Given the description of an element on the screen output the (x, y) to click on. 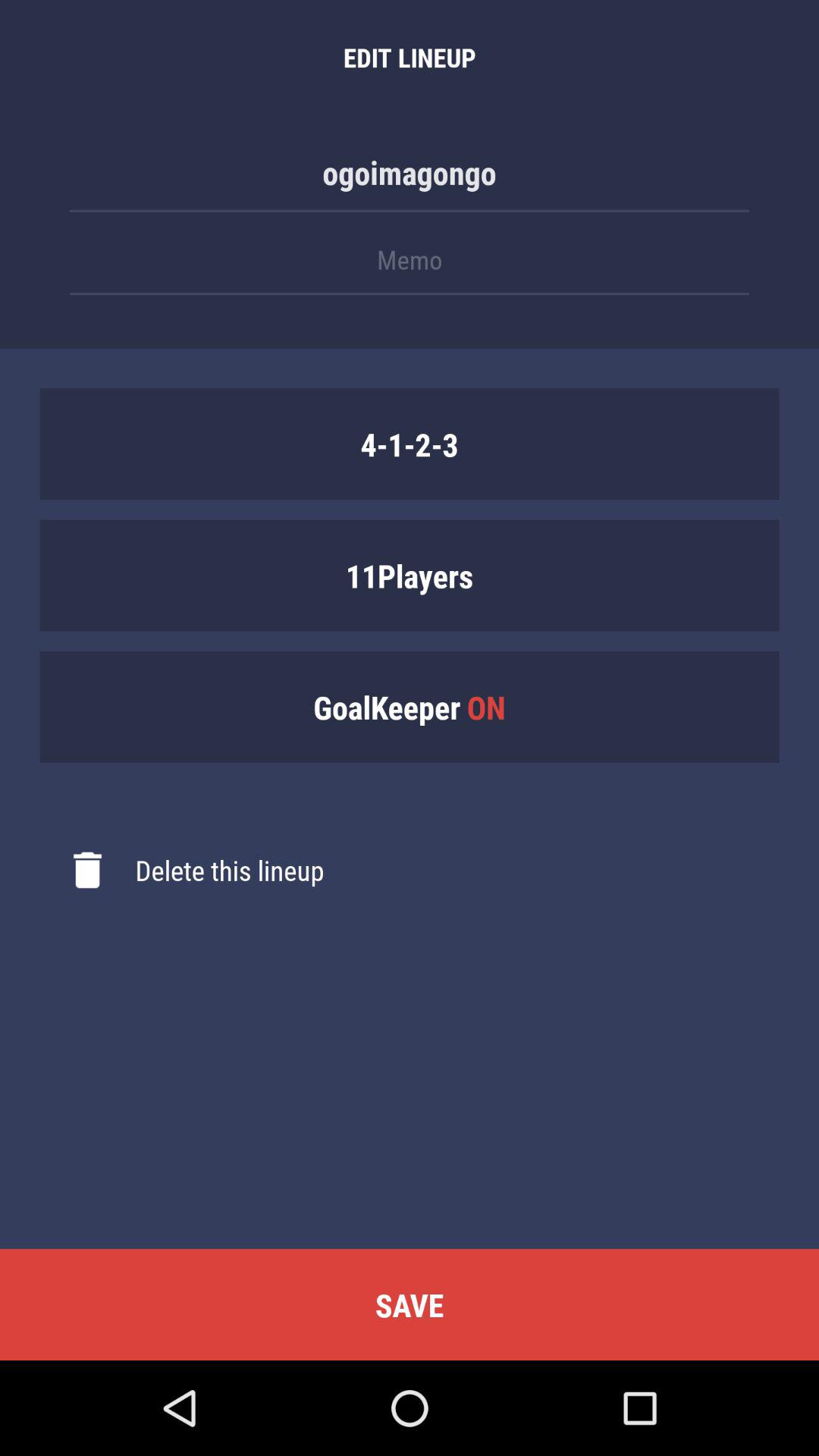
turn on the delete this lineup (181, 869)
